Given the description of an element on the screen output the (x, y) to click on. 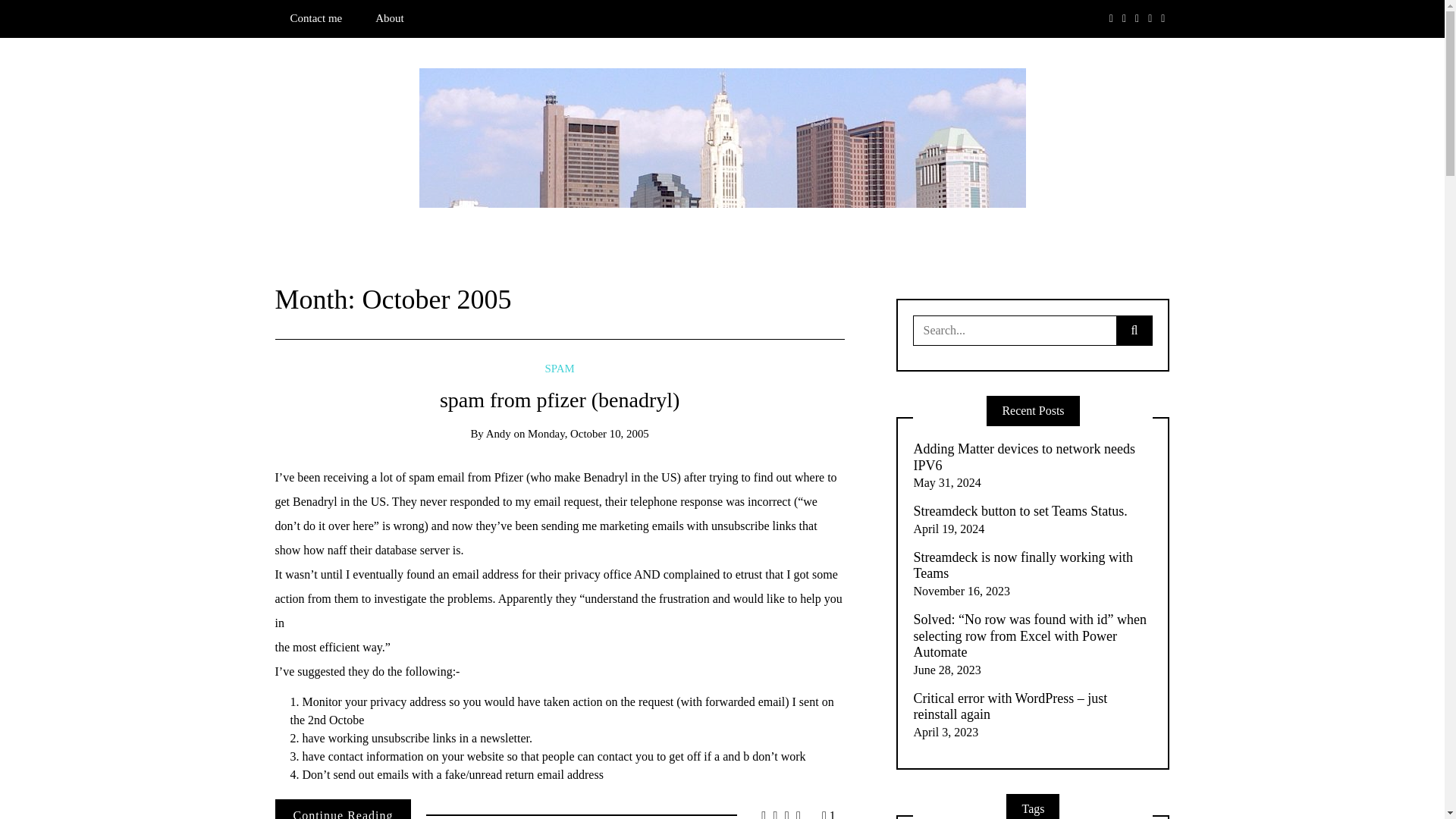
Andy (498, 433)
Contact me (315, 18)
Monday, October 10, 2005 (588, 433)
1 (828, 814)
Posts by Andy (498, 433)
About (389, 18)
Continue Reading (342, 809)
SPAM (559, 368)
